Given the description of an element on the screen output the (x, y) to click on. 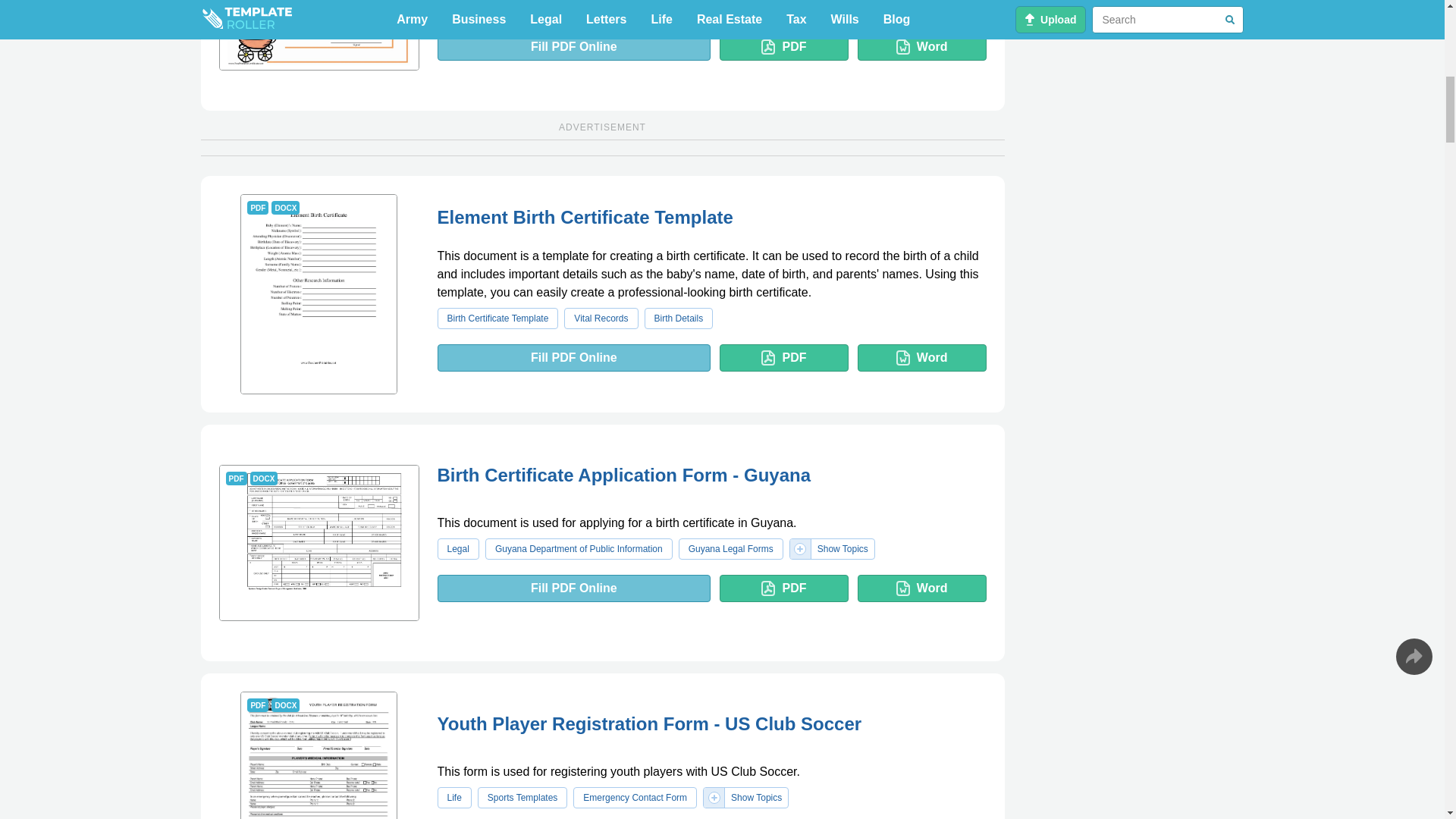
Fill PDF Online (573, 46)
PDF (783, 46)
Word (922, 46)
Birth Certificate Template (603, 9)
Certificate Template (318, 35)
